Given the description of an element on the screen output the (x, y) to click on. 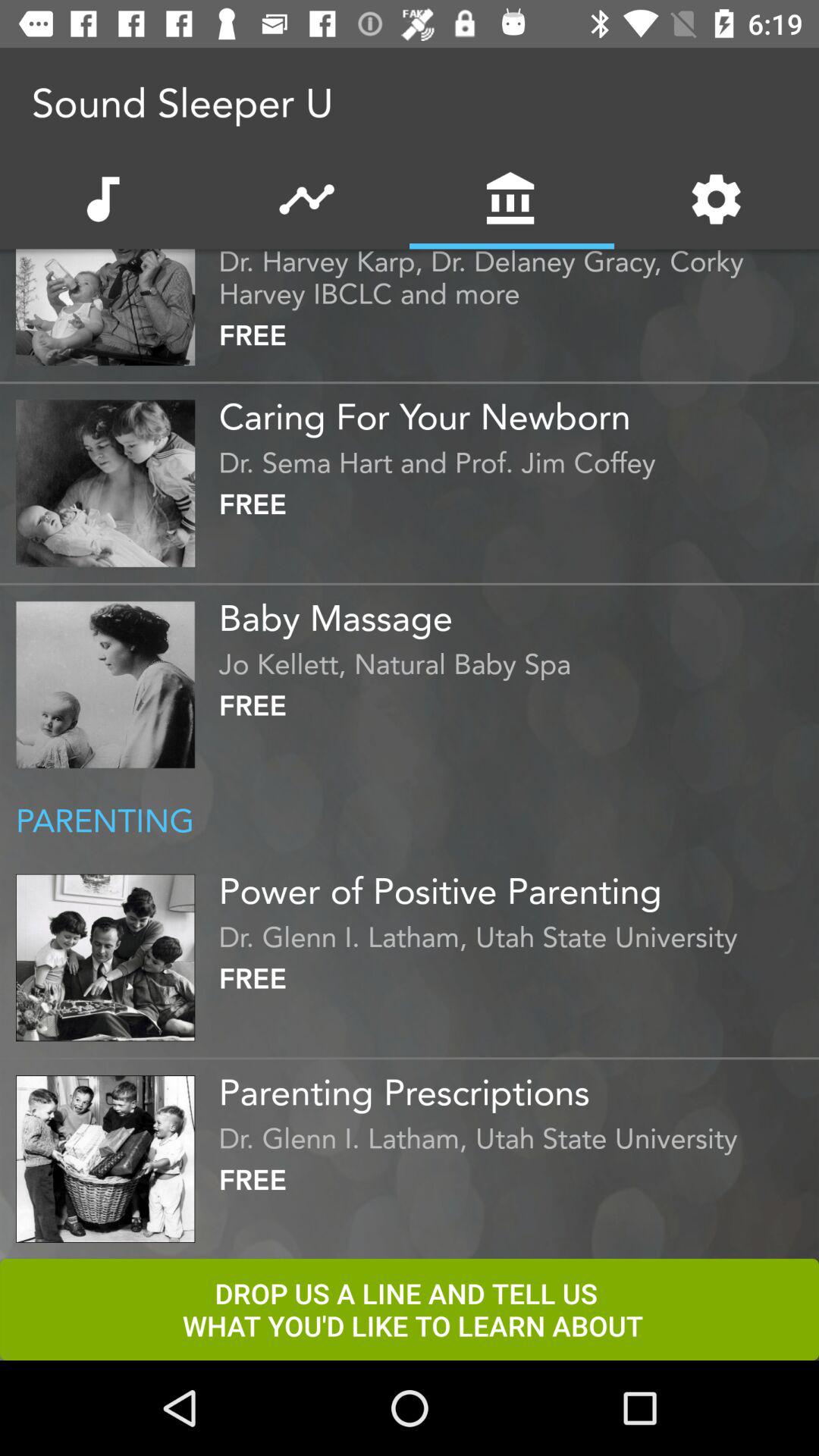
flip until the parenting prescriptions icon (515, 1086)
